Given the description of an element on the screen output the (x, y) to click on. 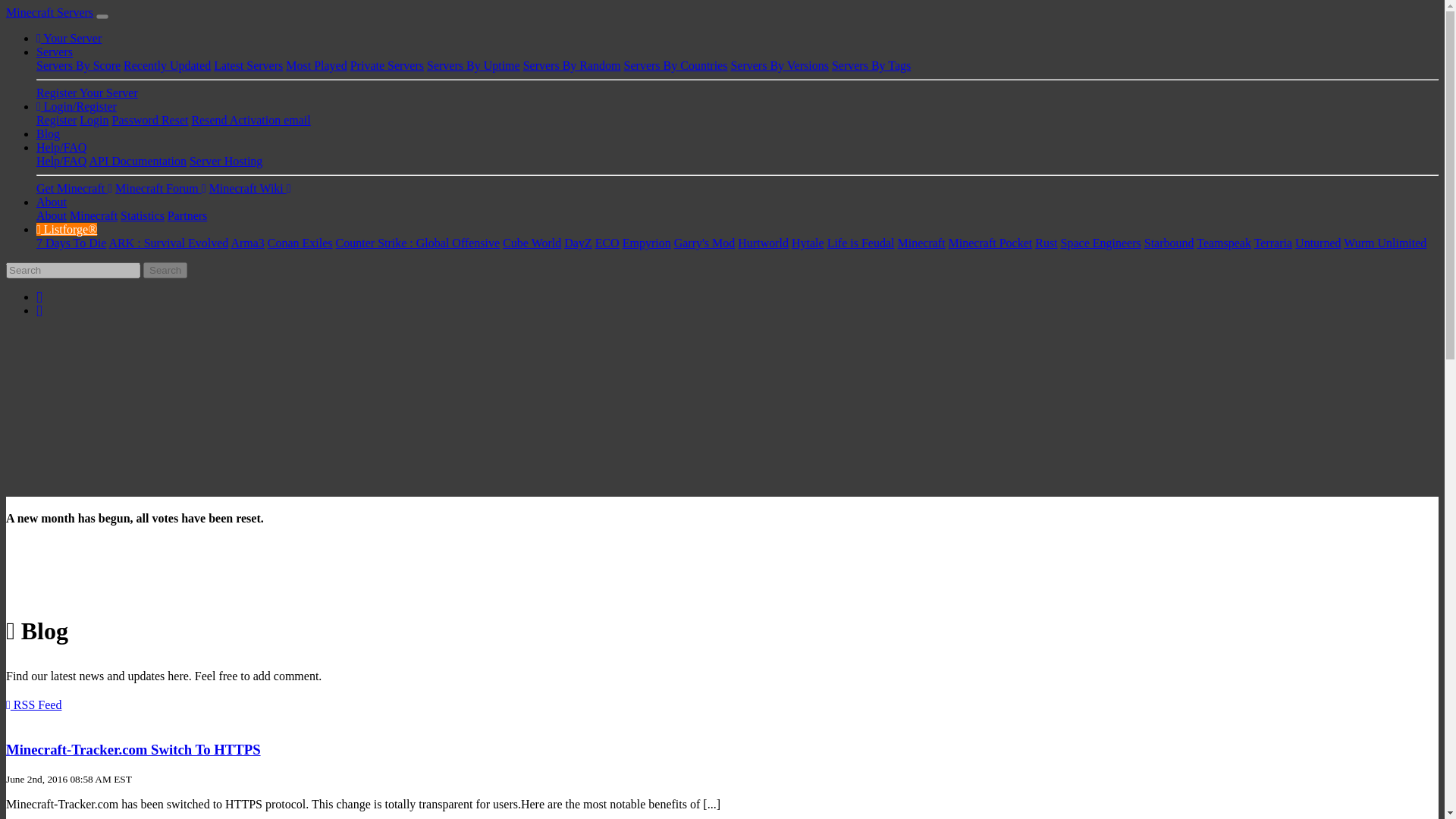
Servers (54, 51)
Latest Servers (248, 65)
Register Your Server (87, 92)
Counter Strike : Global Offensive (418, 242)
Minecraft Wiki (250, 187)
Server Hosting (225, 160)
Most Played (315, 65)
Conan Exiles (300, 242)
Servers By Versions (779, 65)
Recently Updated (167, 65)
Minecraft Forum (160, 187)
Blog (47, 133)
Minecraft (93, 215)
Servers By Uptime (472, 65)
Servers By Tags (871, 65)
